Given the description of an element on the screen output the (x, y) to click on. 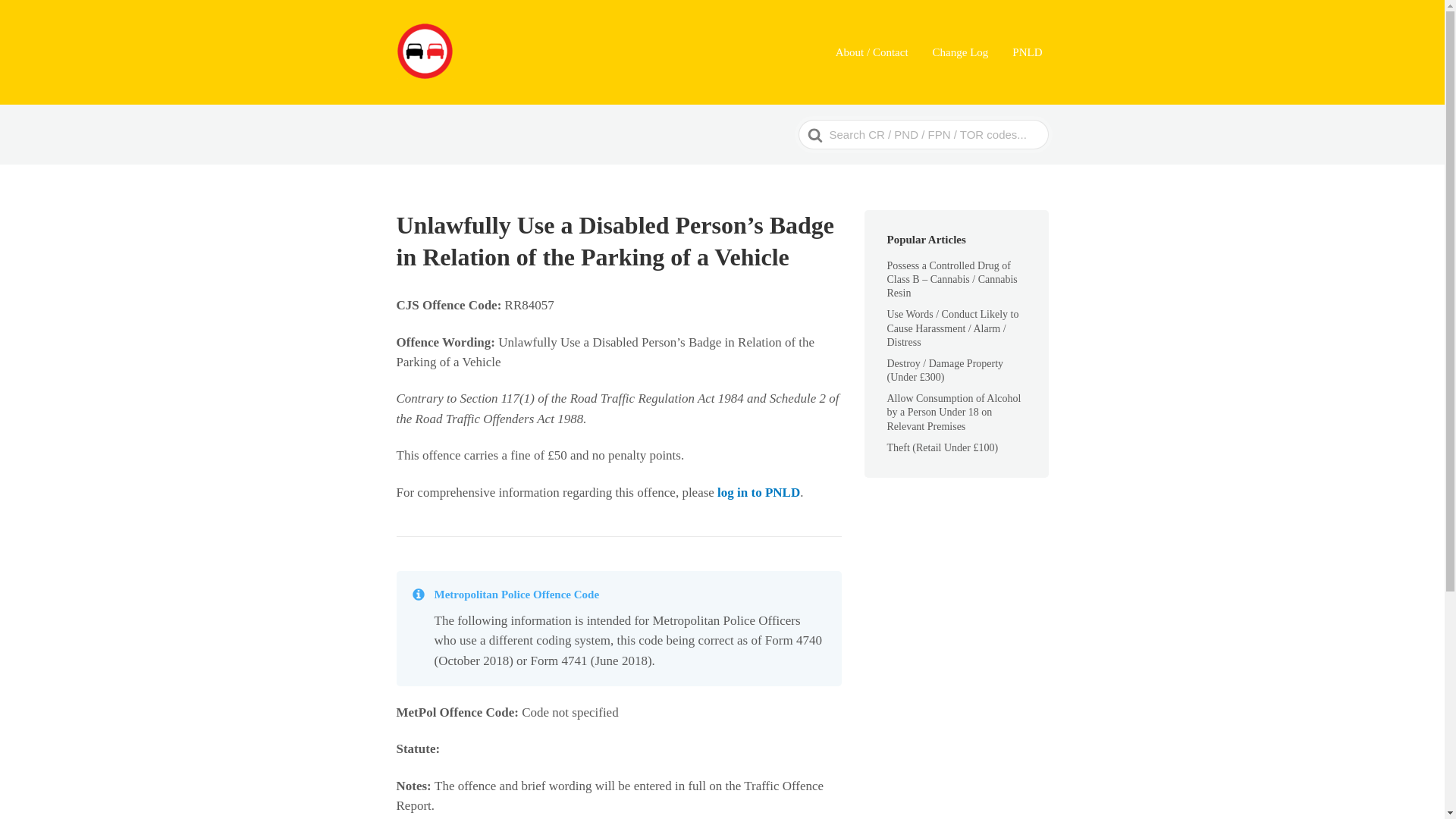
log in to PNLD (758, 492)
Change Log (960, 52)
PNLD (1027, 52)
